Given the description of an element on the screen output the (x, y) to click on. 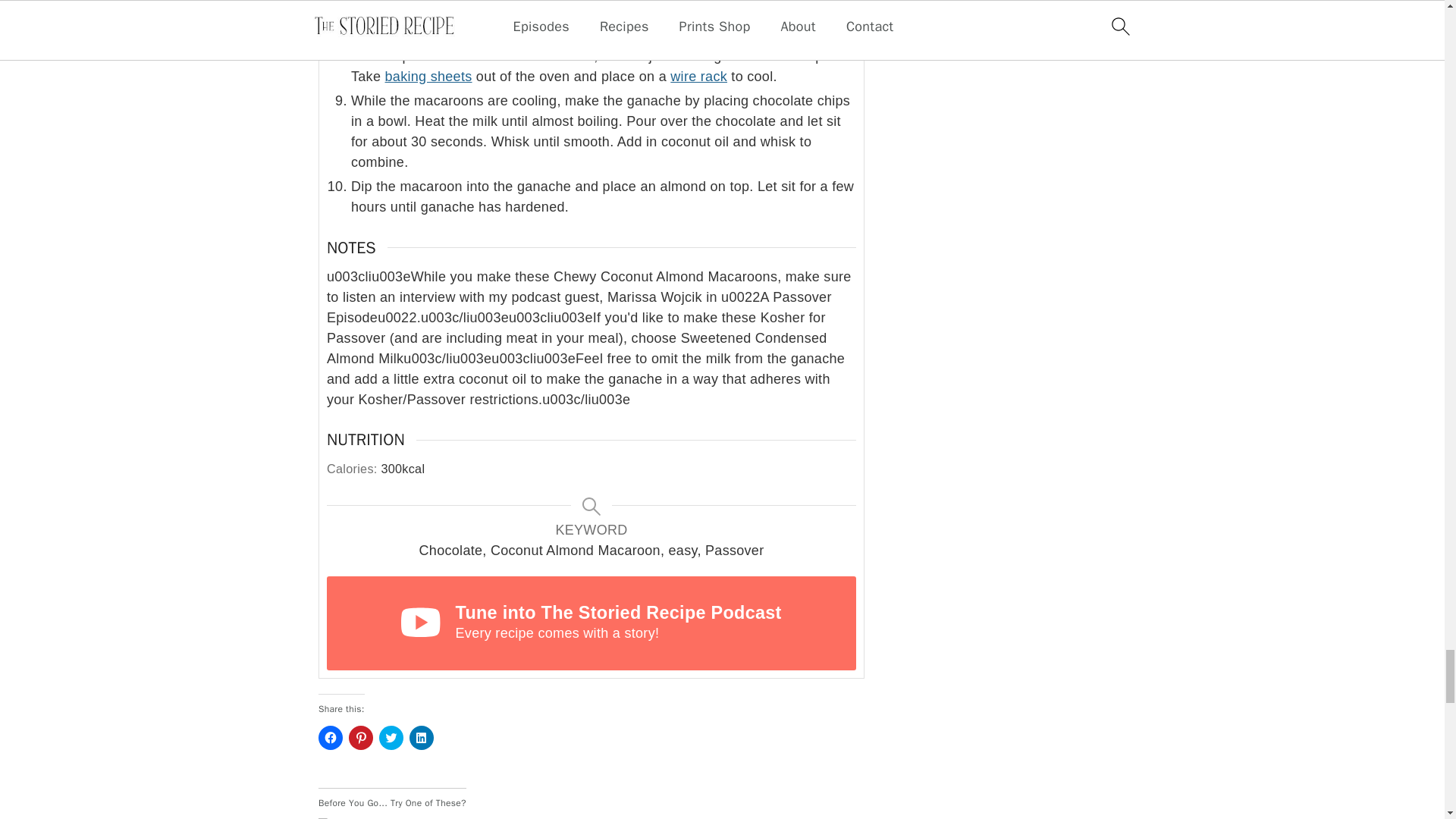
Click to share on Facebook (330, 737)
Click to share on Twitter (390, 737)
Click to share on LinkedIn (421, 737)
Click to share on Pinterest (360, 737)
